Given the description of an element on the screen output the (x, y) to click on. 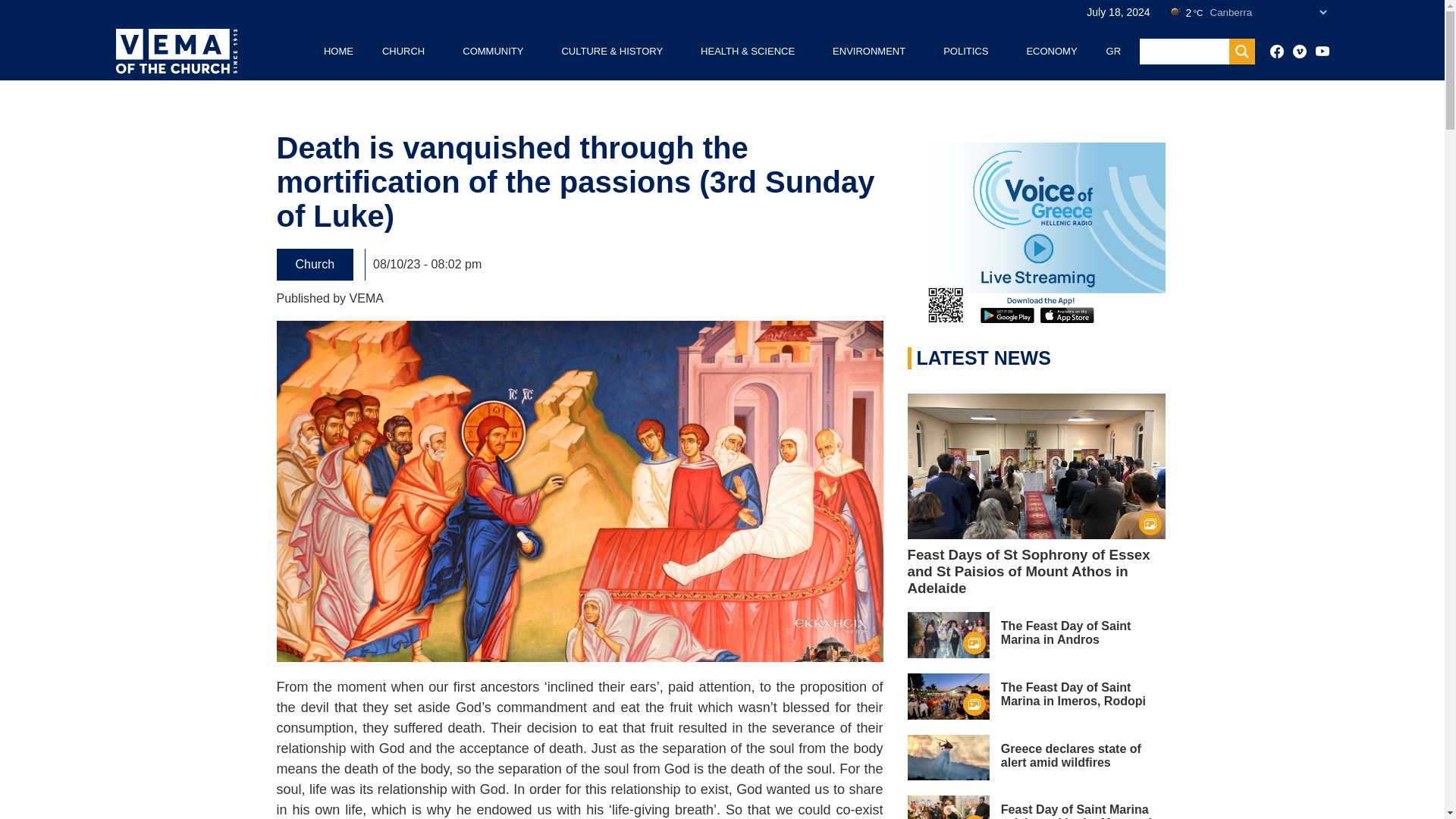
POLITICS (965, 51)
ECONOMY (1051, 51)
Church (314, 264)
VEMA (366, 297)
ENVIRONMENT (868, 51)
GR (1113, 51)
COMMUNITY (492, 51)
CHURCH (403, 51)
HOME (338, 51)
